Given the description of an element on the screen output the (x, y) to click on. 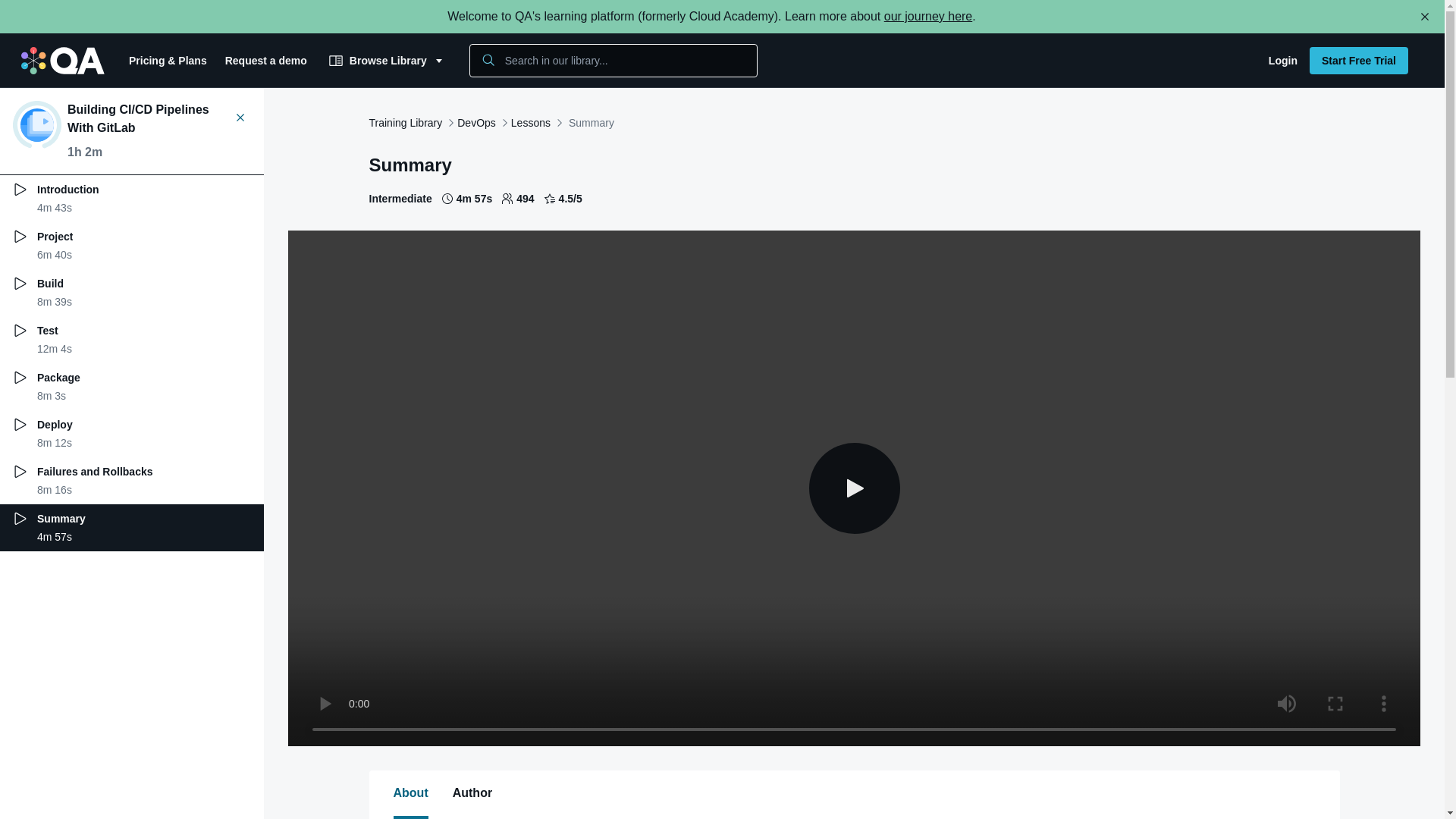
Play video (131, 339)
About (853, 488)
Request a demo (131, 480)
Login (131, 245)
Browse Library (410, 792)
